Given the description of an element on the screen output the (x, y) to click on. 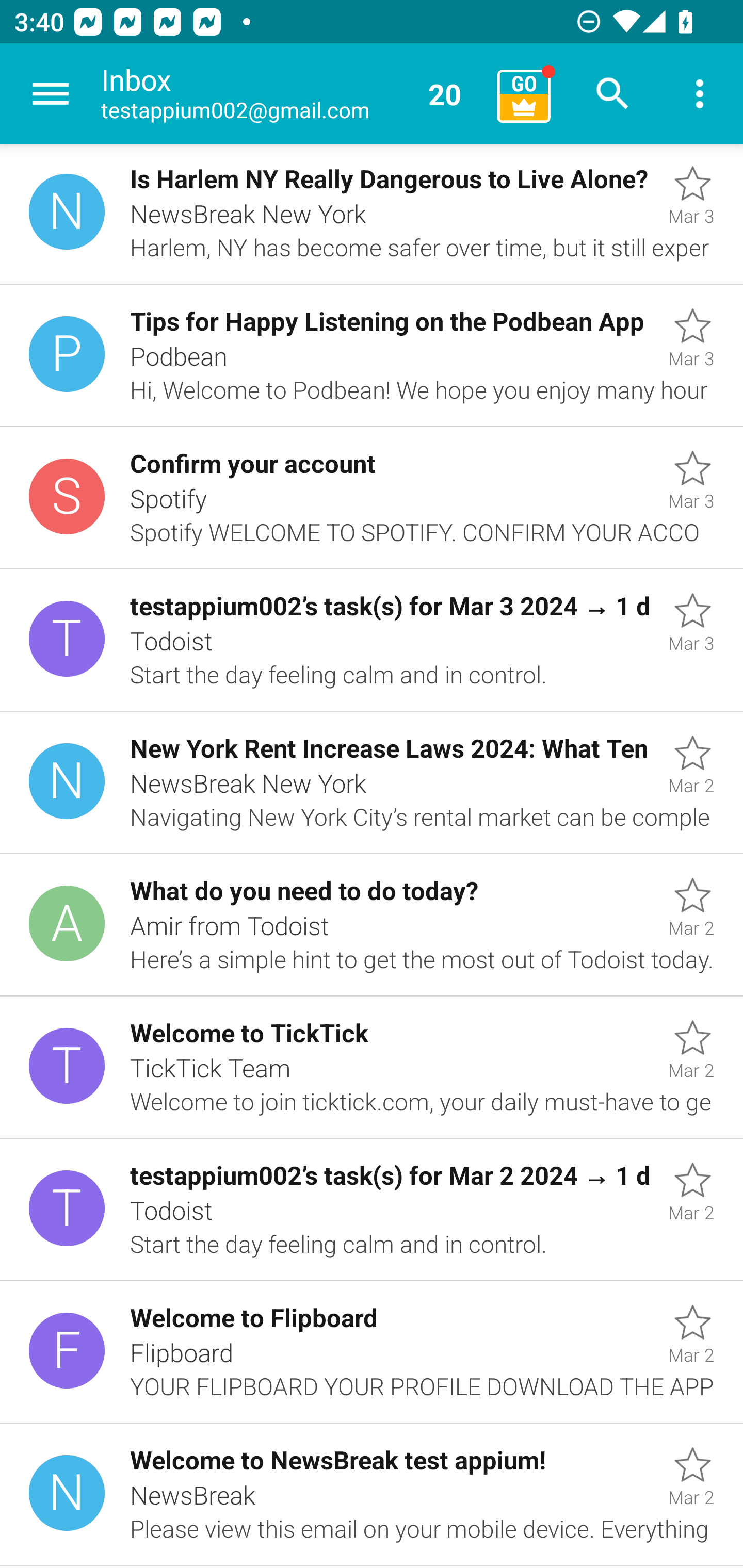
Navigate up (50, 93)
Inbox testappium002@gmail.com 20 (291, 93)
Search (612, 93)
More options (699, 93)
